Given the description of an element on the screen output the (x, y) to click on. 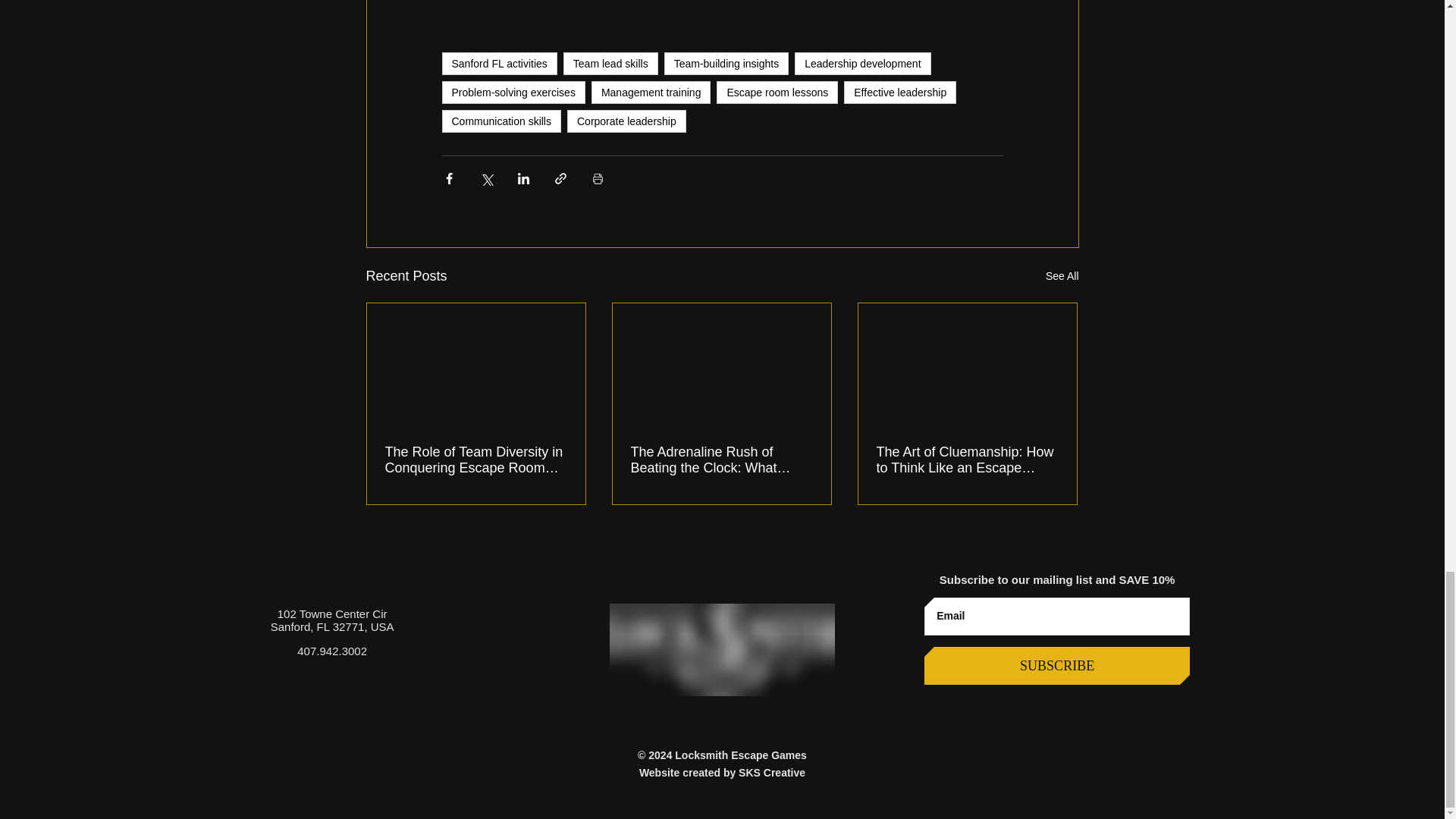
See All (1061, 276)
Management training (651, 92)
Corporate leadership (626, 120)
Team-building insights (726, 63)
Communication skills (500, 120)
Team lead skills (610, 63)
Escape room lessons (777, 92)
